Given the description of an element on the screen output the (x, y) to click on. 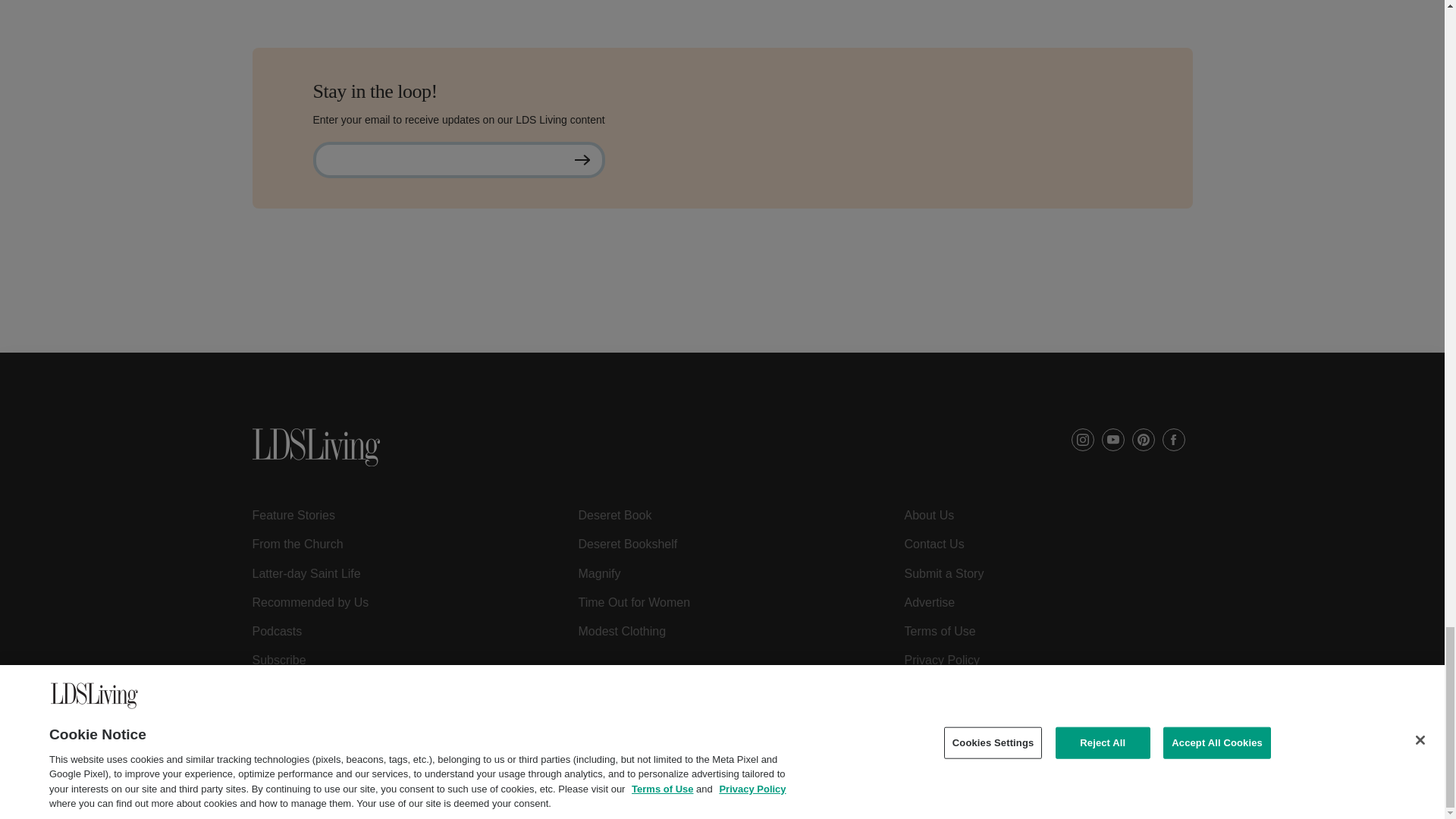
3rd party ad content (721, 318)
